Given the description of an element on the screen output the (x, y) to click on. 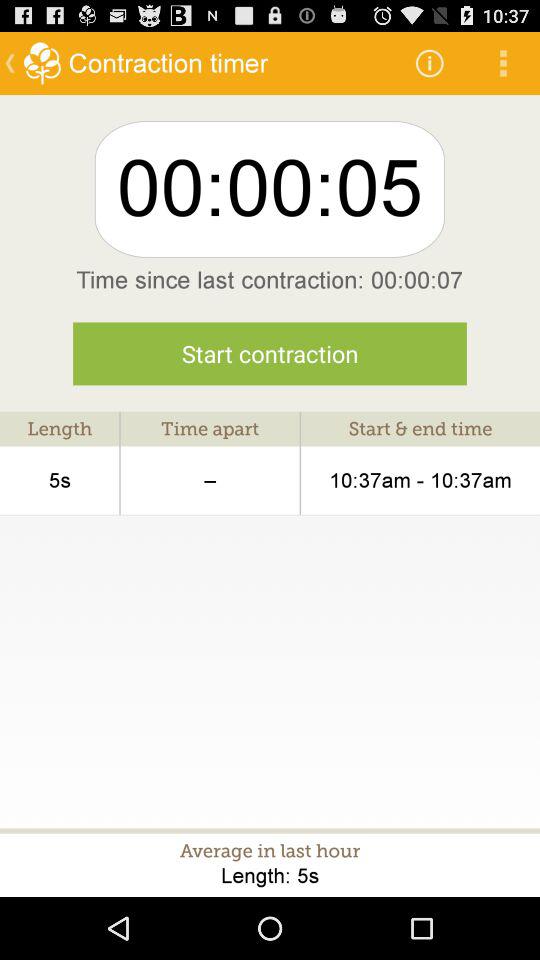
launch item above the length icon (269, 353)
